Given the description of an element on the screen output the (x, y) to click on. 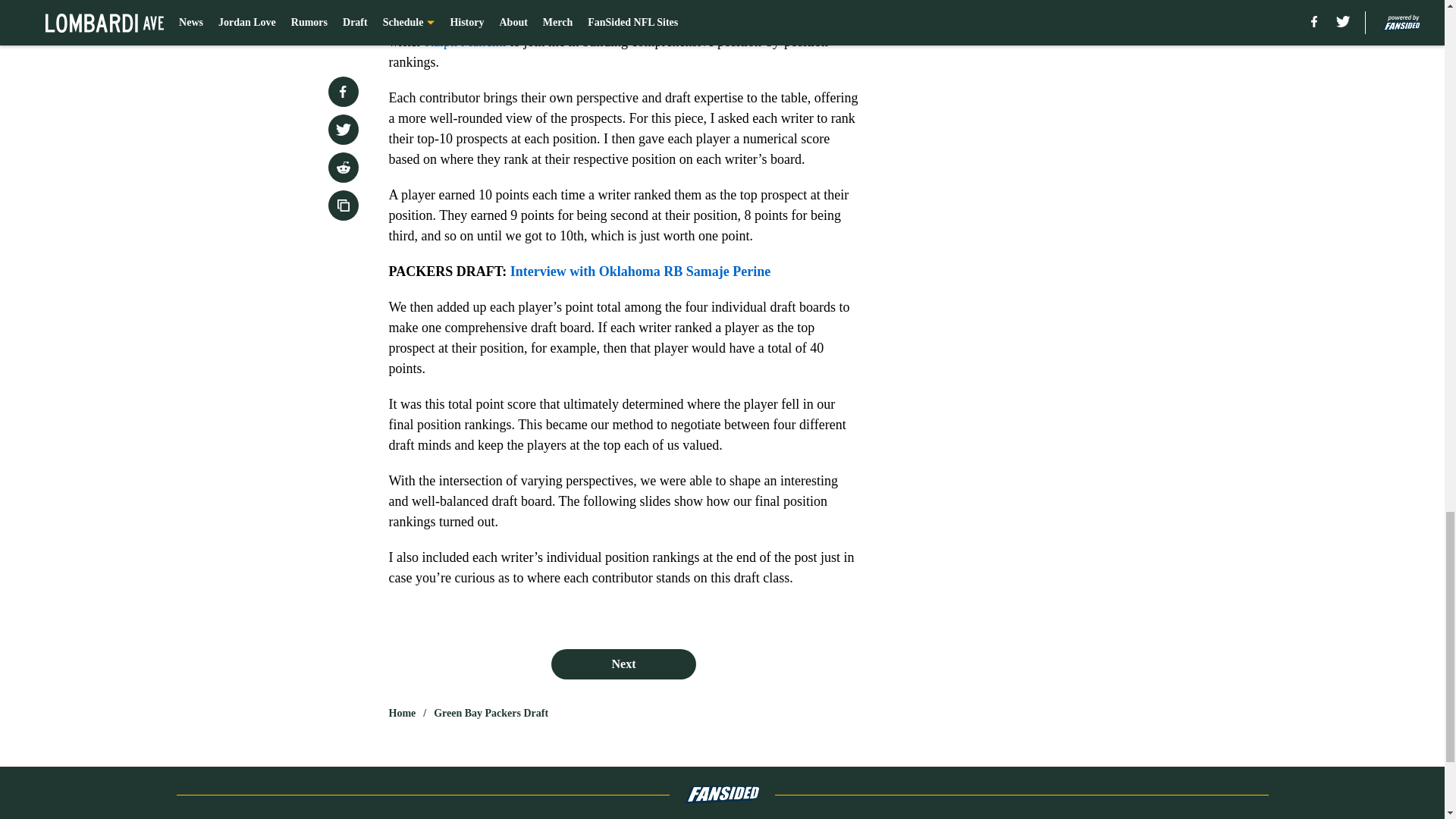
Interview with Oklahoma RB Samaje Perine (640, 271)
Next (622, 664)
Kyle Fellows (726, 20)
Green Bay Packers Draft (490, 713)
Ralph Mancini (465, 41)
Home (401, 713)
Freddie Boston (548, 20)
